Given the description of an element on the screen output the (x, y) to click on. 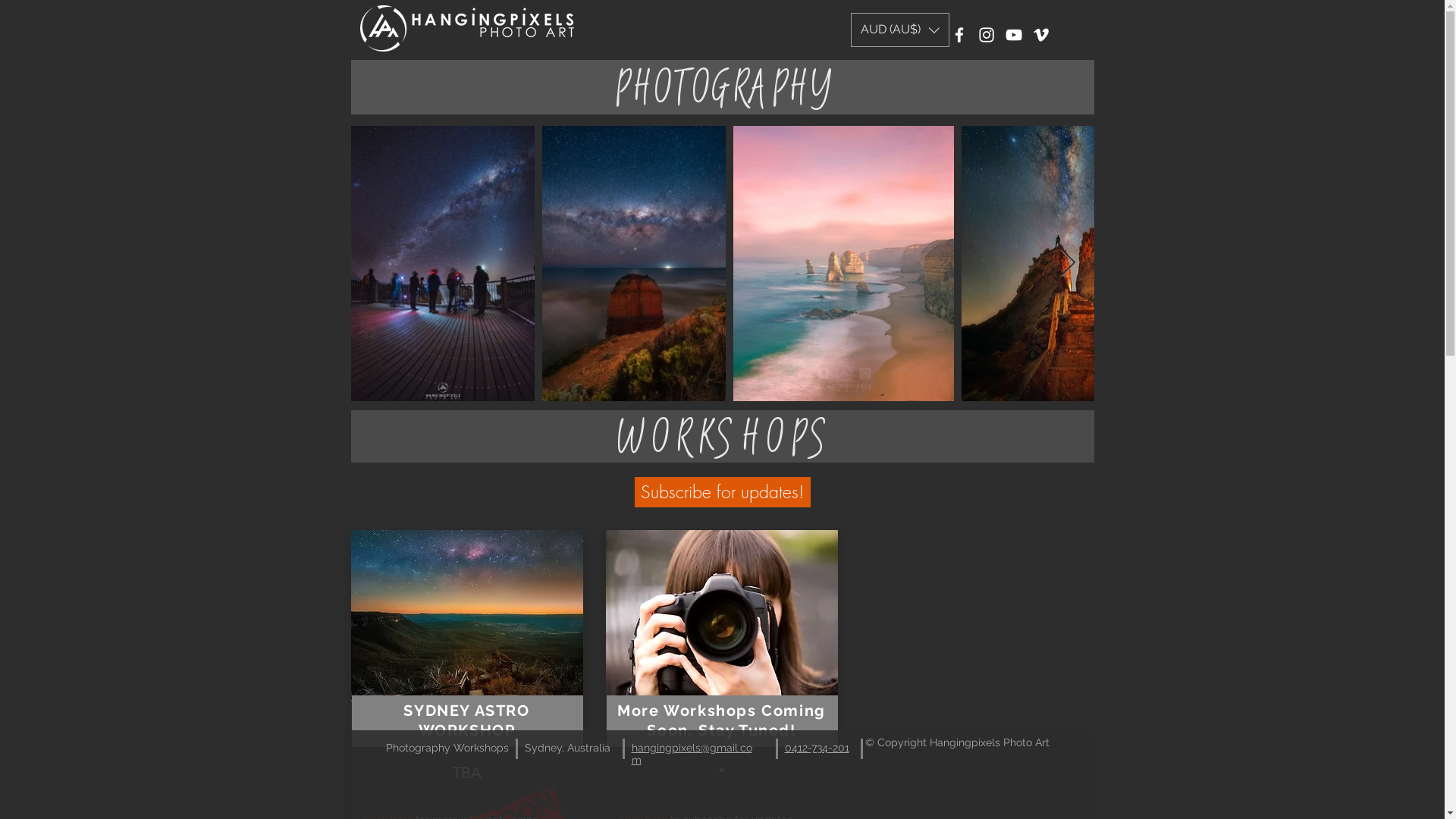
AUD (AU$) Element type: text (899, 29)
Subscribe for updates! Element type: text (721, 491)
0412-734-201 Element type: text (816, 747)
hangingpixels@gmail.com Element type: text (690, 753)
